Given the description of an element on the screen output the (x, y) to click on. 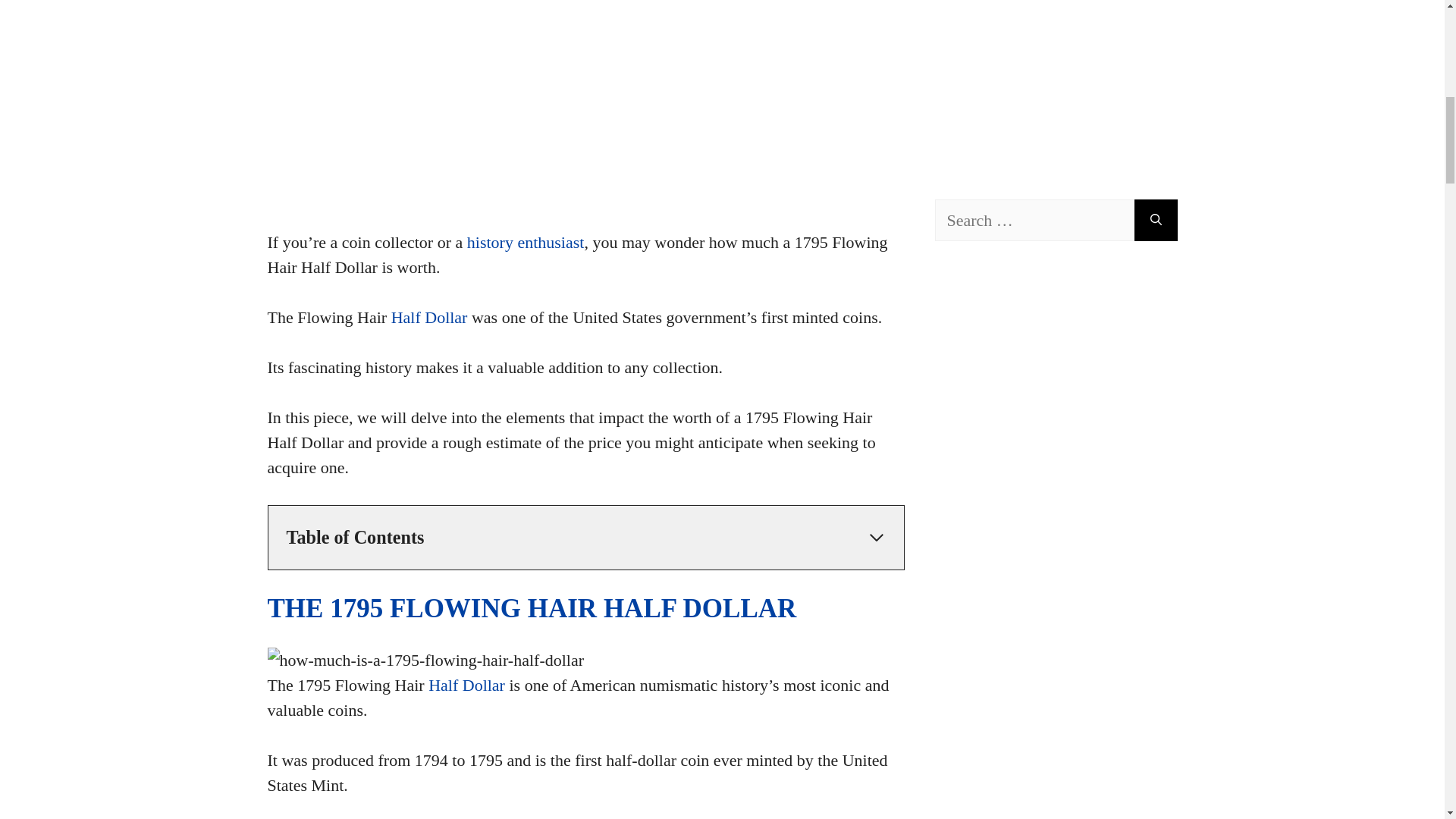
THE 1795 FLOWING HAIR HALF DOLLAR (531, 608)
Half Dollar (429, 316)
Search for: (1034, 219)
history enthusiast (526, 241)
Half Dollar (466, 684)
